Given the description of an element on the screen output the (x, y) to click on. 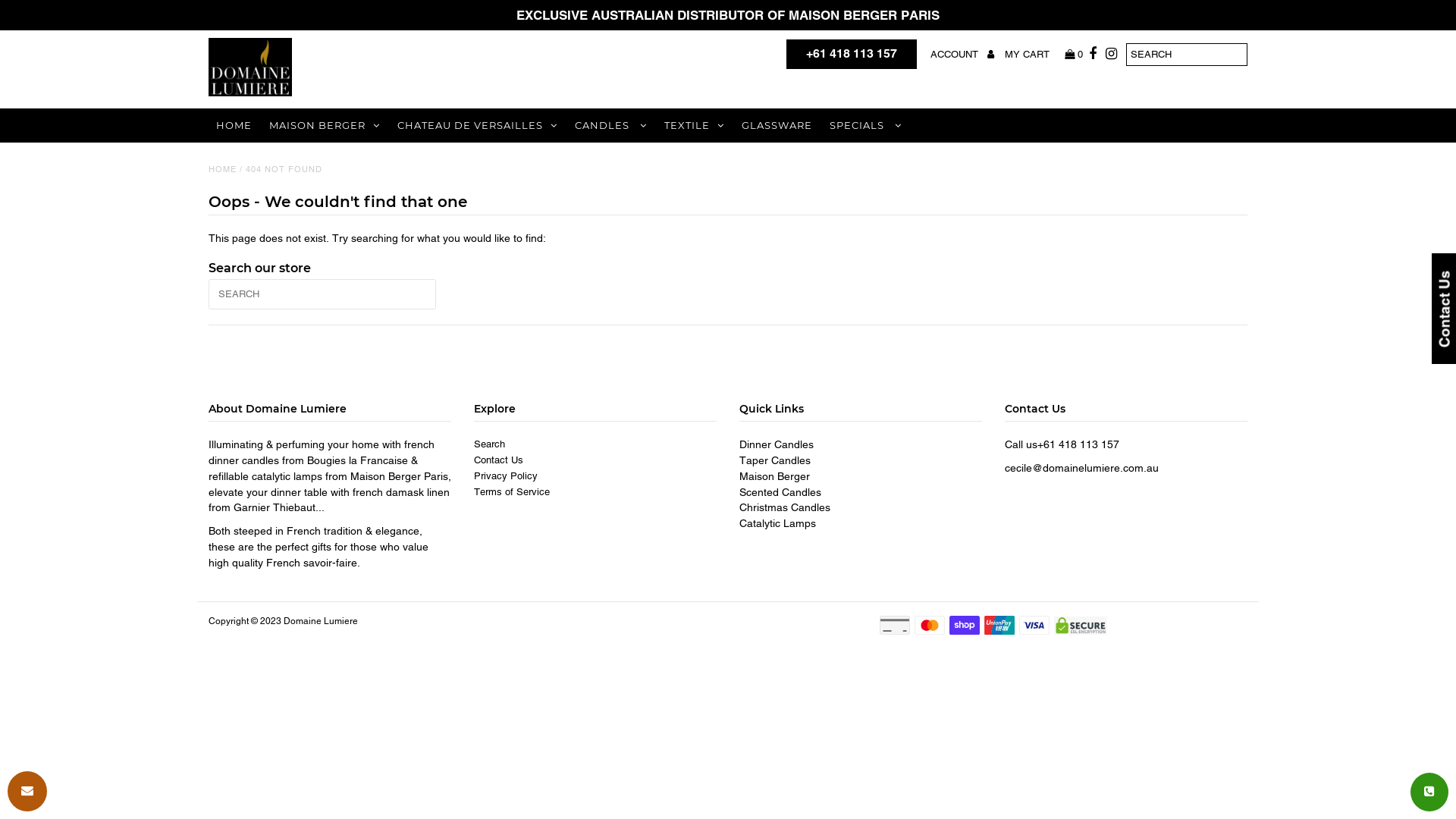
HOME Element type: text (222, 168)
+61 418 113 157 Element type: text (851, 54)
GLASSWARE Element type: text (776, 124)
Scented Candles Element type: text (780, 492)
Christmas Candles Element type: text (784, 507)
MY CART   0 Element type: text (1043, 54)
HOME Element type: text (233, 124)
cecile@domainelumiere.com.au Element type: text (1081, 467)
Call us+61 418 113 157 Element type: text (1061, 444)
Catalytic Lamps Element type: text (777, 523)
SPECIALS Element type: text (865, 125)
ACCOUNT Element type: text (962, 54)
Terms of Service Element type: text (511, 491)
MAISON BERGER Element type: text (324, 125)
CHATEAU DE VERSAILLES Element type: text (476, 125)
Taper Candles Element type: text (774, 460)
Maison Berger Element type: text (774, 476)
TEXTILE Element type: text (693, 125)
Privacy Policy Element type: text (505, 475)
Contact Us Element type: text (498, 459)
Domaine Lumiere Element type: text (320, 620)
Dinner Candles Element type: text (776, 444)
CANDLES Element type: text (610, 125)
Search Element type: text (489, 443)
